Given the description of an element on the screen output the (x, y) to click on. 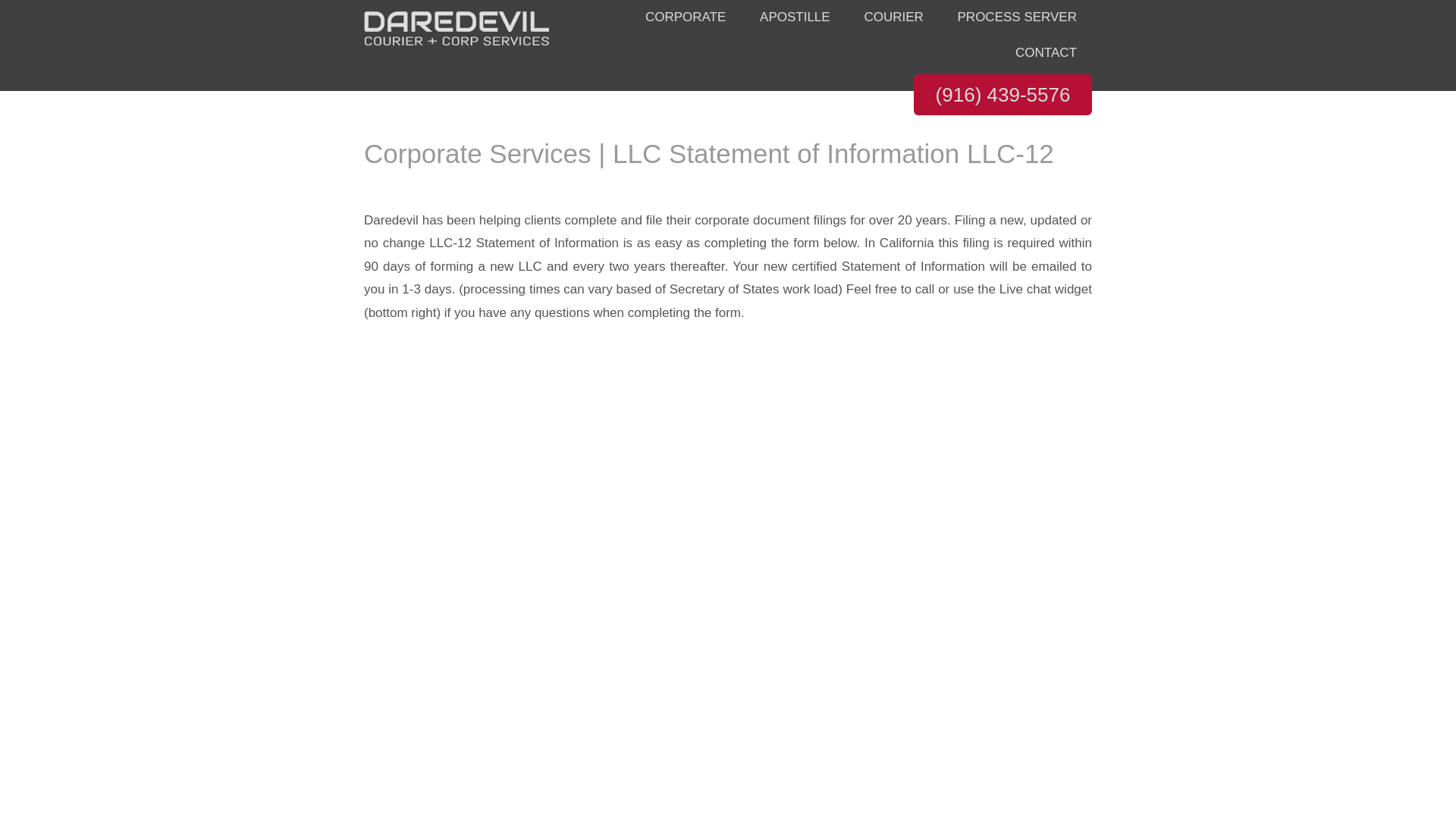
CONTACT (1046, 53)
COURIER (892, 18)
APOSTILLE (794, 18)
CORPORATE (685, 18)
PROCESS SERVER (1017, 18)
